Given the description of an element on the screen output the (x, y) to click on. 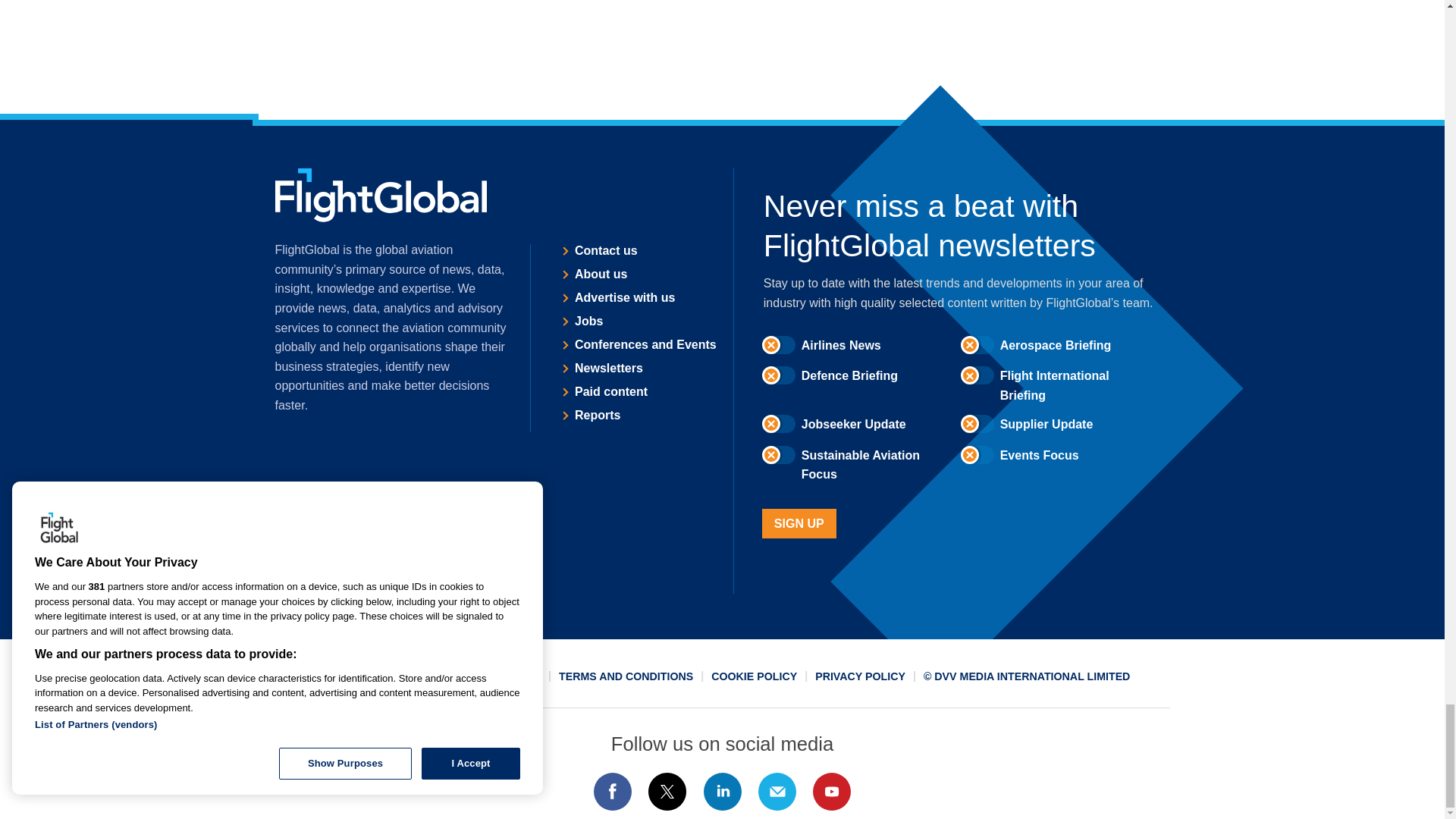
Connect with us on Youtube (831, 791)
Connect with us on Twitter (667, 791)
Email us (776, 791)
Connect with us on Linked In (721, 791)
Connect with us on Facebook (611, 791)
